Given the description of an element on the screen output the (x, y) to click on. 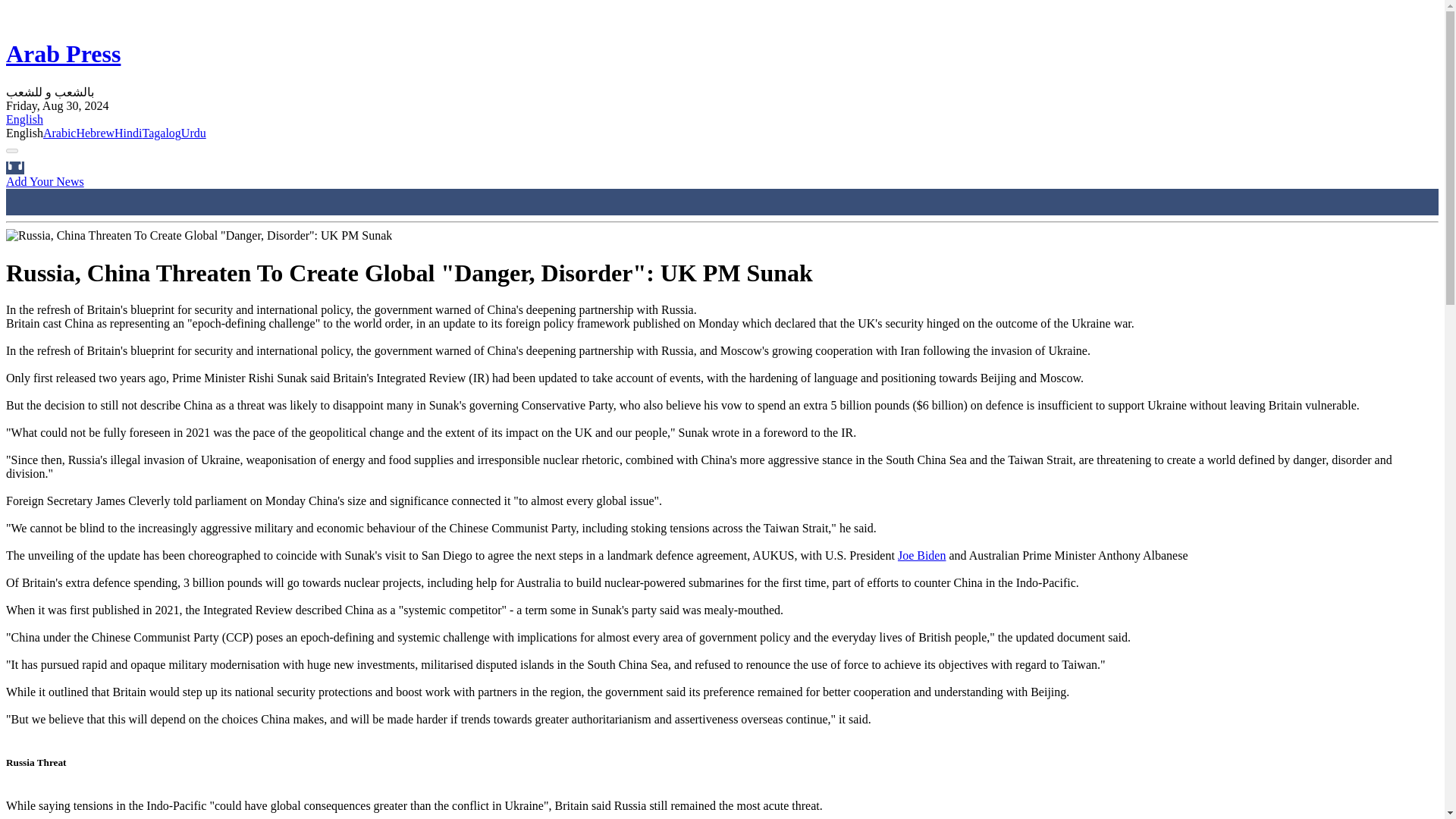
Hebrew (95, 132)
English (24, 119)
Arab Press (62, 53)
Hindi (128, 132)
Urdu (193, 132)
Arabic (60, 132)
Joe Biden (922, 554)
Tagalog (161, 132)
Add Your News (44, 181)
